Given the description of an element on the screen output the (x, y) to click on. 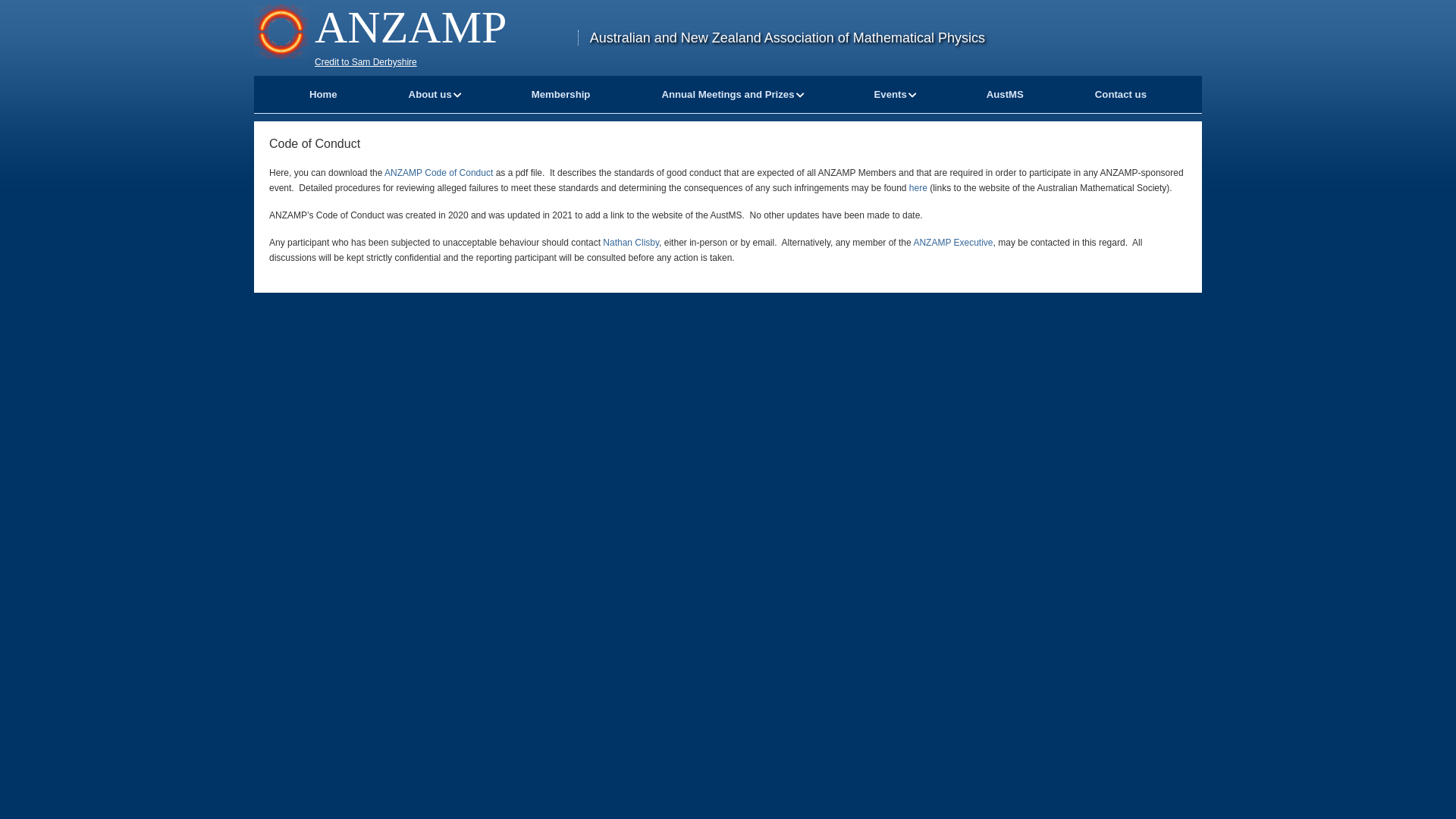
ANZAMP Executive Element type: text (952, 242)
AustMS Element type: text (1004, 94)
Membership Element type: text (560, 94)
Nathan Clisby Element type: text (630, 242)
Credit to Sam Derbyshire Element type: text (365, 61)
ANZAMP Code of Conduct Element type: text (438, 172)
ANZAMP Element type: text (410, 27)
here Element type: text (918, 187)
Contact us Element type: text (1120, 94)
Home Element type: text (323, 94)
About us Element type: text (429, 94)
Events Element type: text (890, 94)
Annual Meetings and Prizes Element type: text (727, 94)
